Given the description of an element on the screen output the (x, y) to click on. 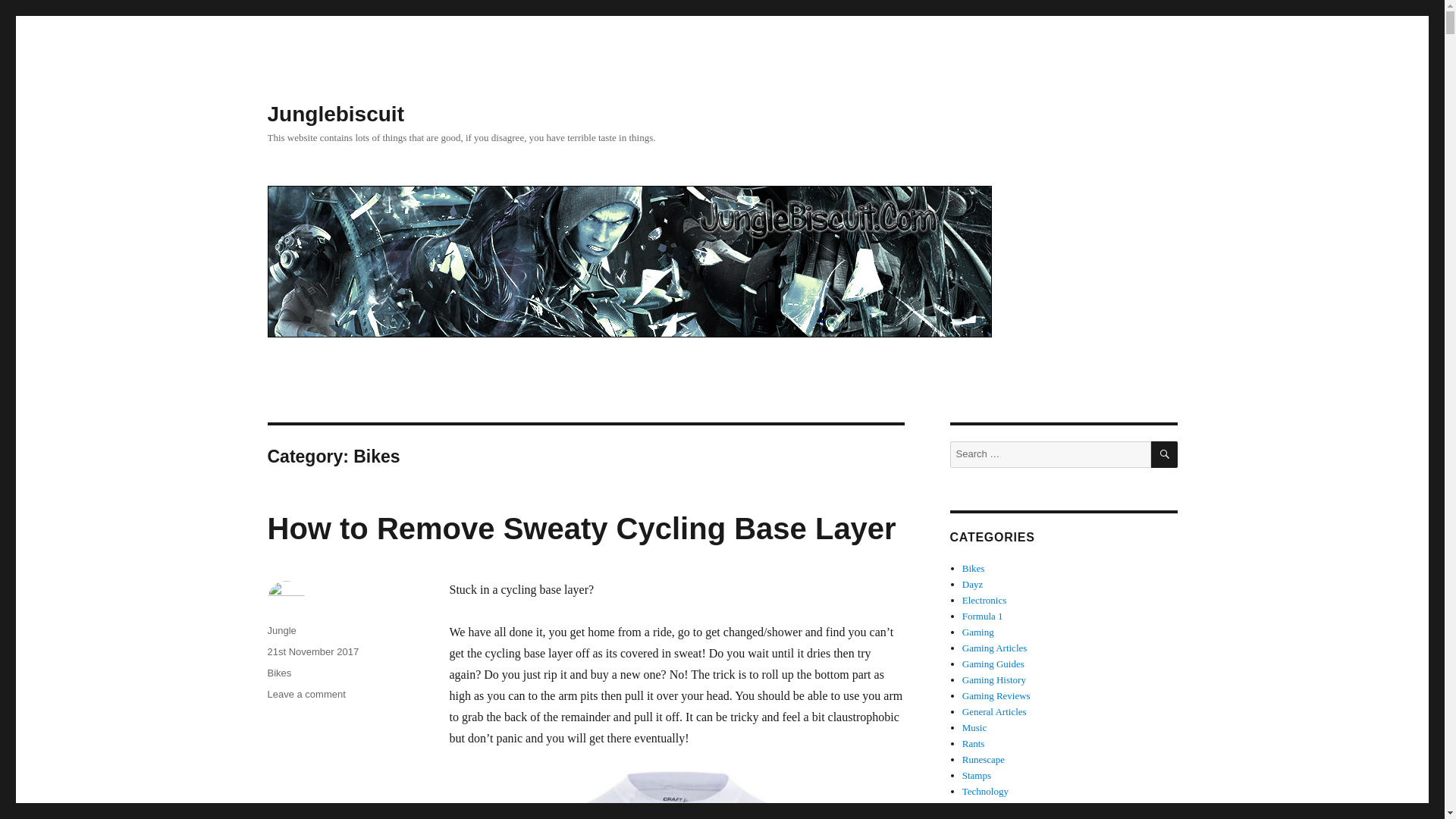
Junglebiscuit (334, 114)
21st November 2017 (312, 651)
Bikes (278, 672)
How to Remove Sweaty Cycling Base Layer (580, 528)
Jungle (280, 630)
